Given the description of an element on the screen output the (x, y) to click on. 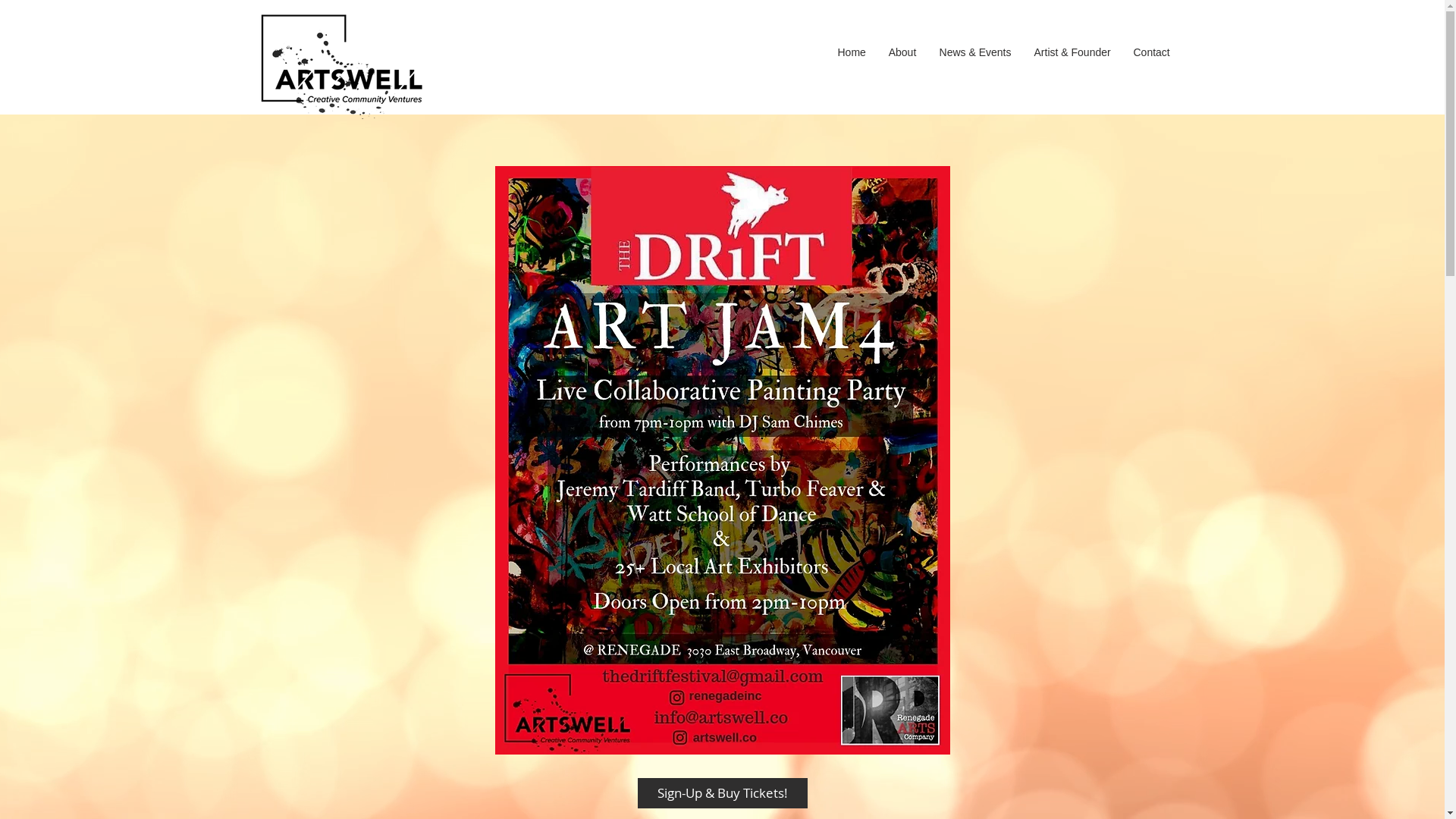
Contact Element type: text (1151, 52)
Home Element type: text (851, 52)
About Element type: text (901, 52)
Artist & Founder Element type: text (1071, 52)
Sign-Up & Buy Tickets! Element type: text (721, 793)
